Given the description of an element on the screen output the (x, y) to click on. 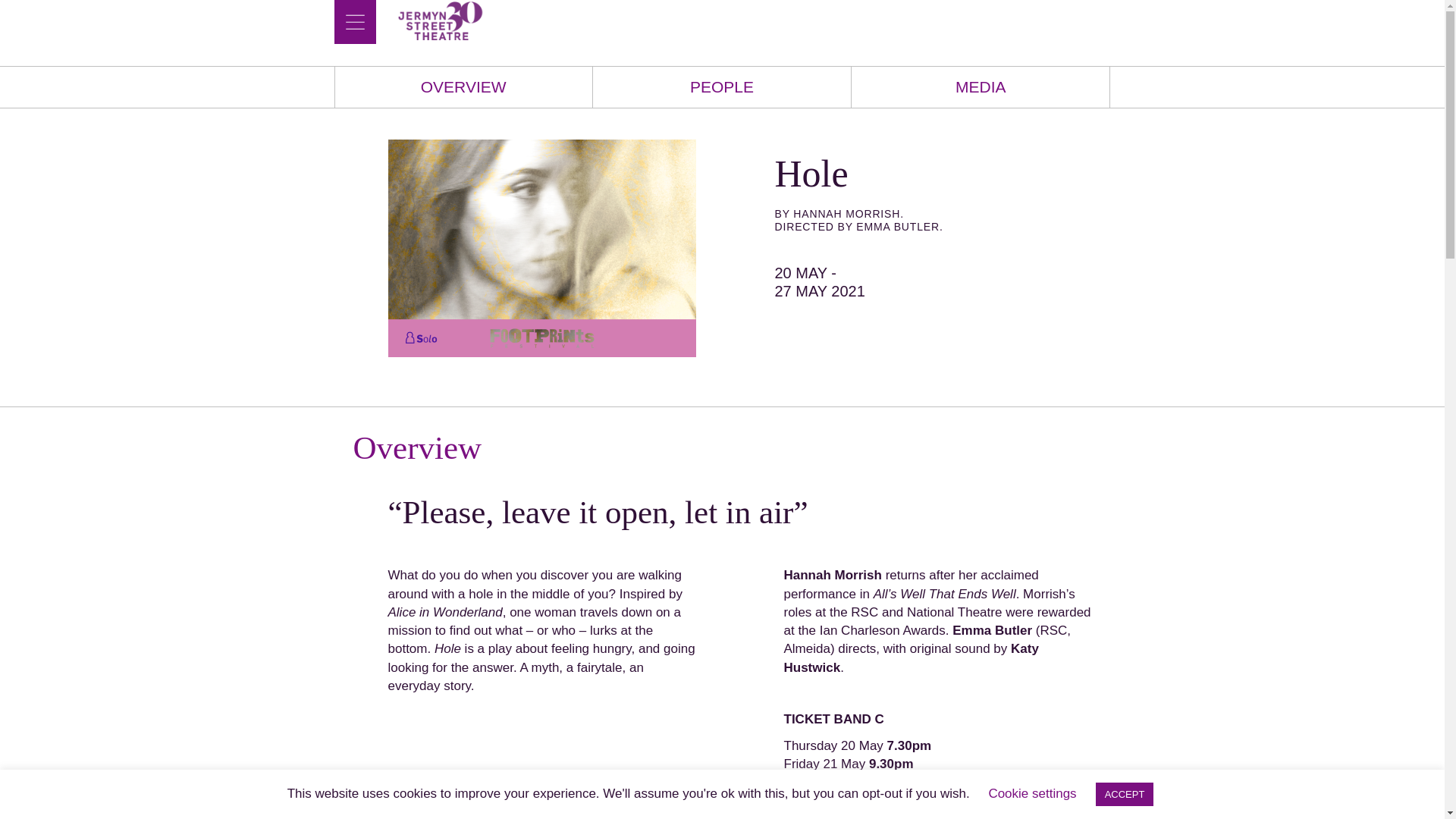
OVERVIEW (463, 86)
OVERVIEW (463, 86)
MEDIA (980, 86)
MEDIA (980, 86)
PEOPLE (722, 86)
PEOPLE (722, 86)
